Given the description of an element on the screen output the (x, y) to click on. 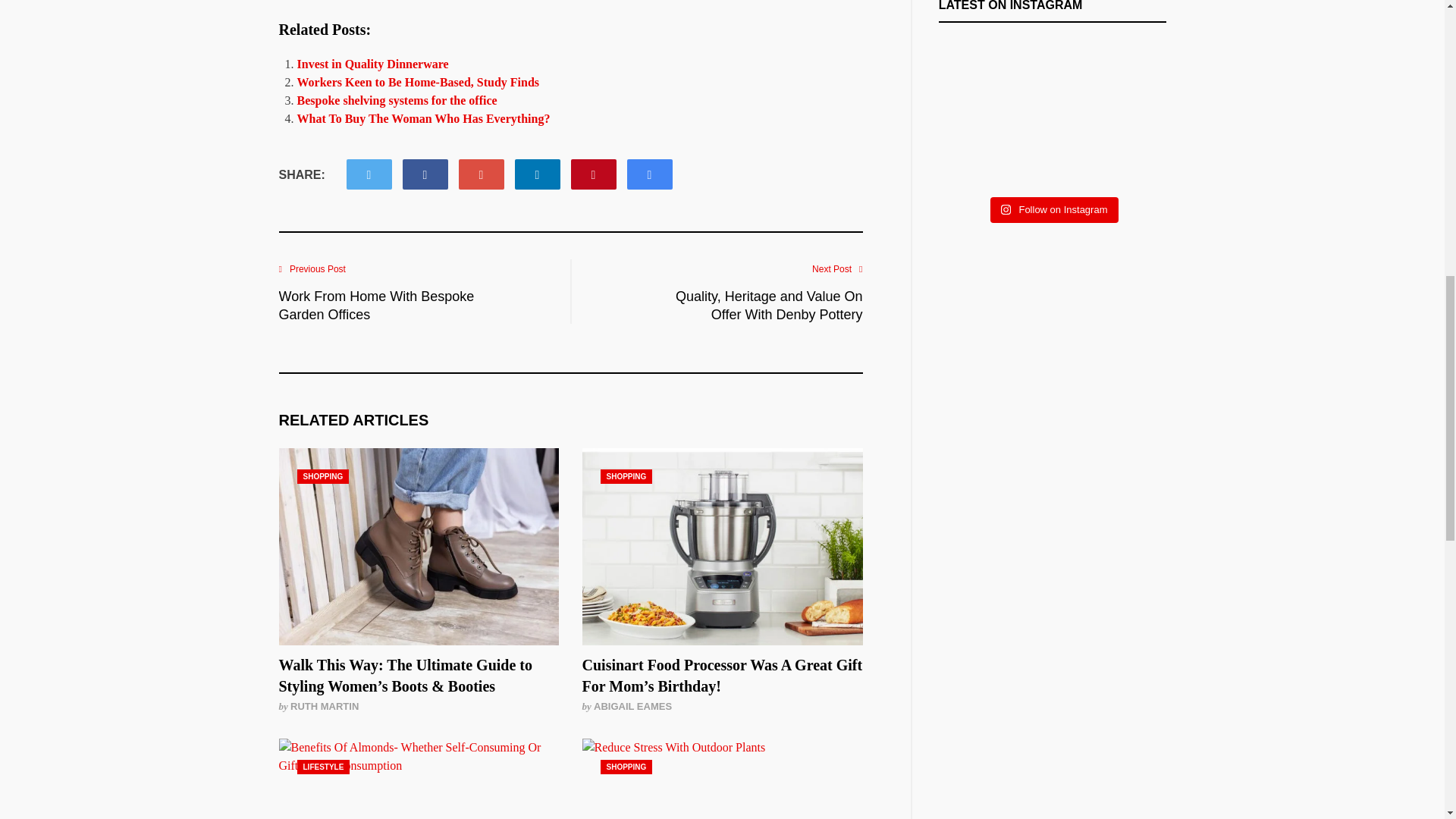
What To Buy The Woman Who Has Everything? (423, 118)
Invest in Quality Dinnerware (372, 63)
What To Buy The Woman Who Has Everything? (423, 118)
Bespoke shelving systems for the office (397, 100)
Workers Keen to Be Home-Based, Study Finds (418, 82)
Bespoke shelving systems for the office (397, 100)
Invest in Quality Dinnerware (372, 63)
Workers Keen to Be Home-Based, Study Finds (418, 82)
